Given the description of an element on the screen output the (x, y) to click on. 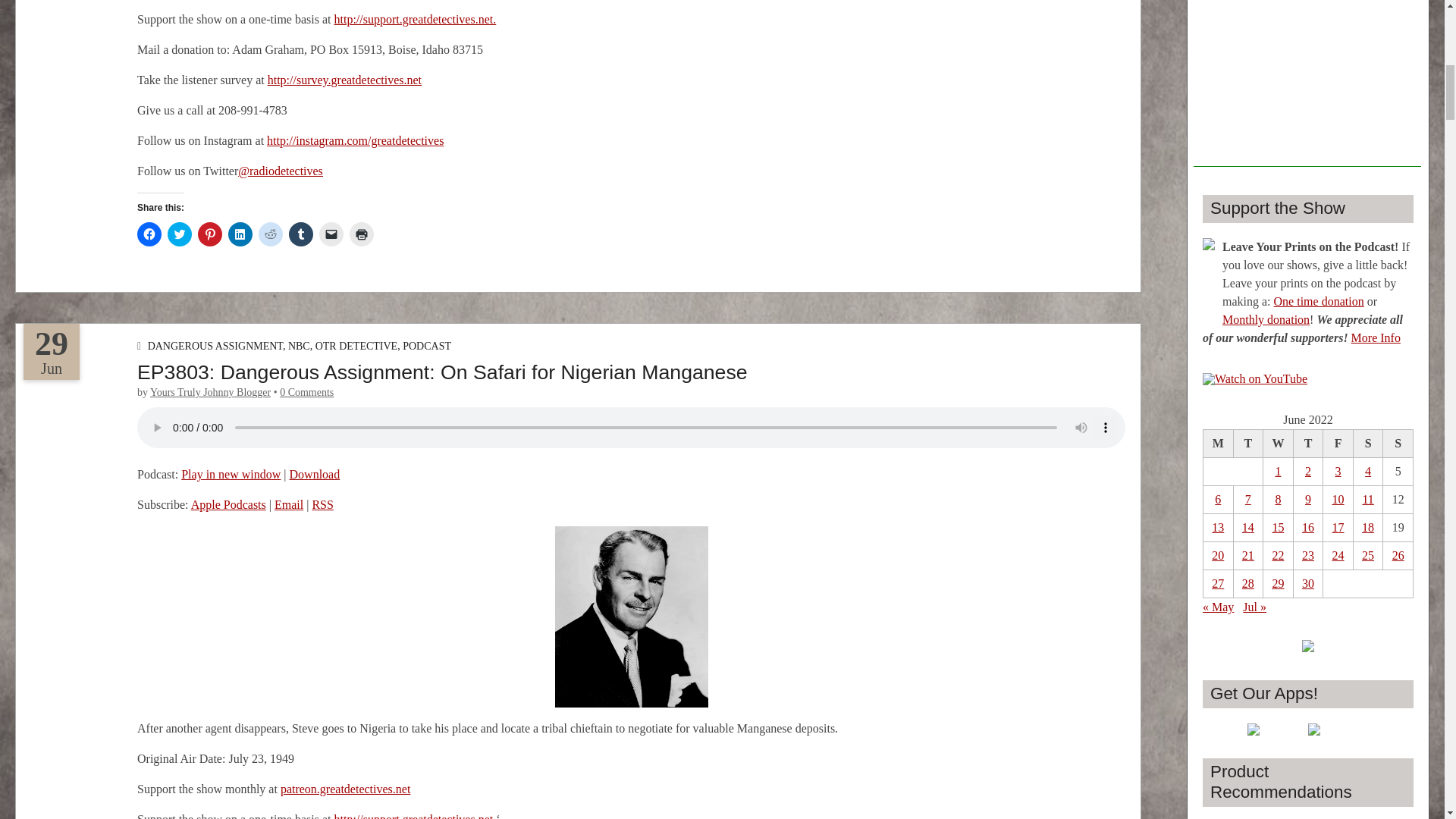
Click to share on Facebook (148, 233)
Click to share on Reddit (270, 233)
Click to share on Twitter (179, 233)
Posts by Yours Truly Johnny Blogger (209, 392)
Click to print (361, 233)
Click to share on LinkedIn (239, 233)
Click to email a link to a friend (330, 233)
Click to share on Pinterest (210, 233)
Click to share on Tumblr (300, 233)
